Given the description of an element on the screen output the (x, y) to click on. 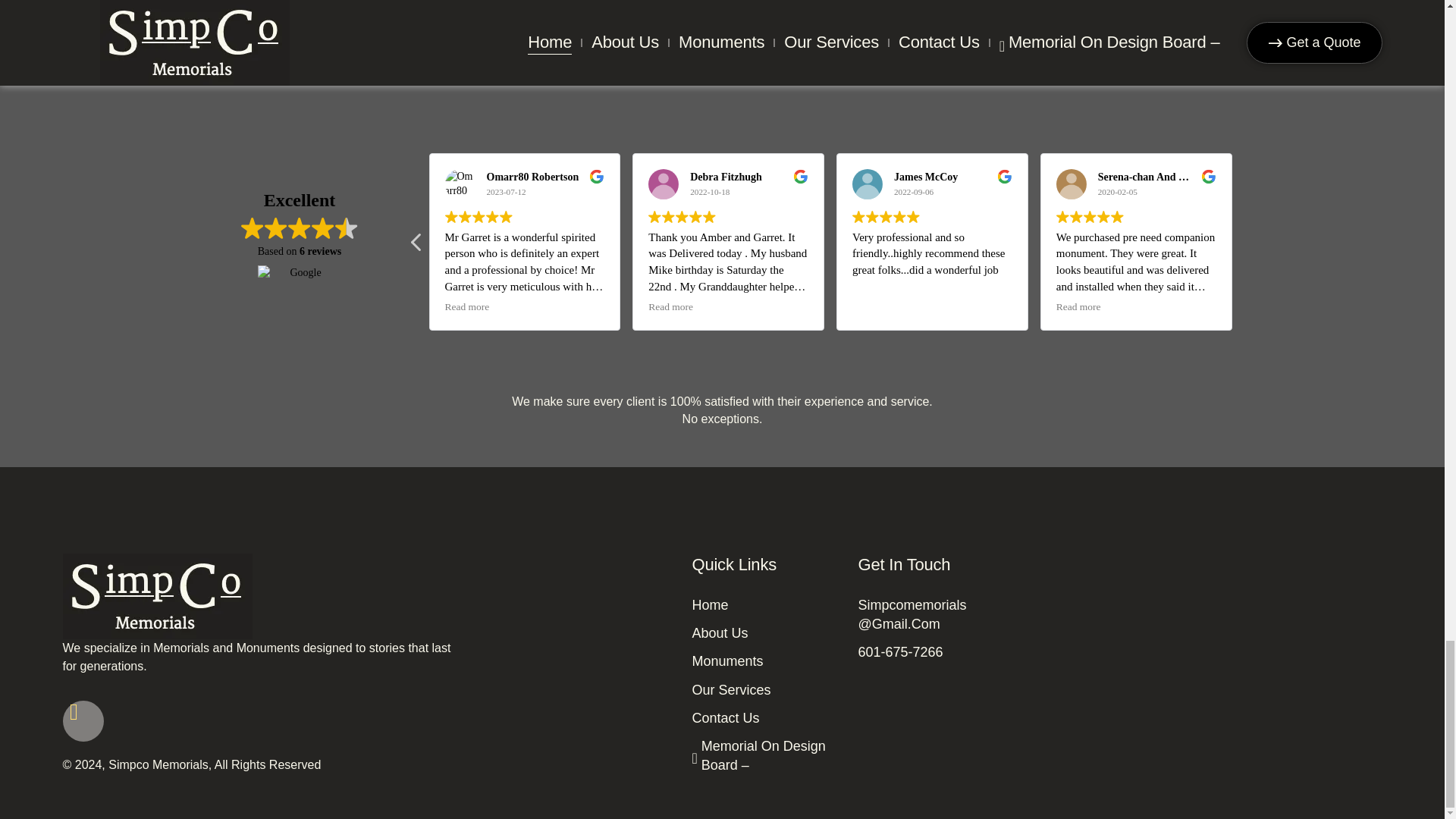
About Us (766, 633)
Monuments (766, 660)
SImpco Memorials (1206, 631)
Home (766, 605)
